Given the description of an element on the screen output the (x, y) to click on. 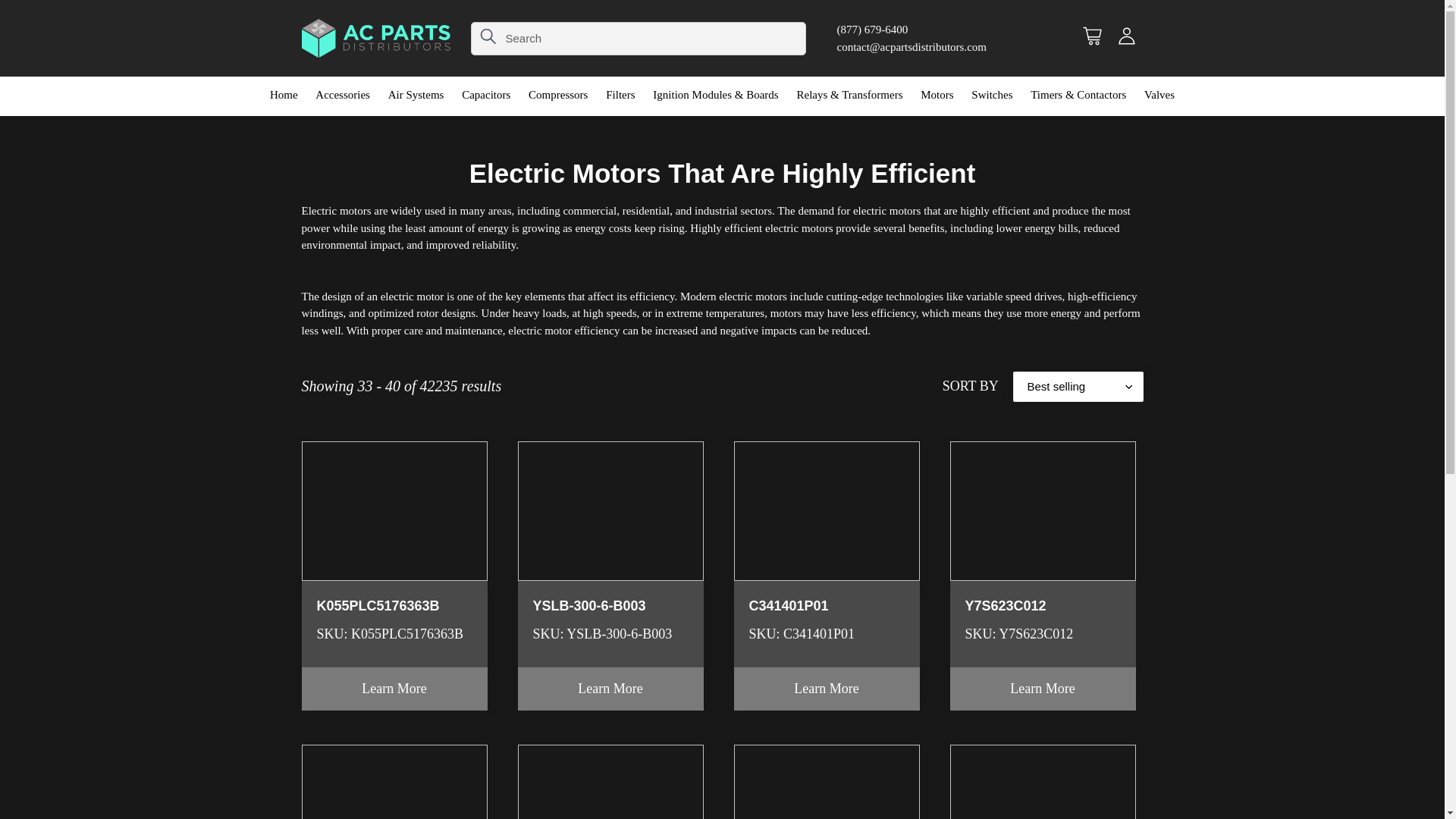
Air Systems (415, 96)
Valves (1159, 96)
Cart (1091, 38)
Filters (620, 96)
Home (283, 96)
Capacitors (486, 96)
Compressors (558, 96)
K055PLC5176363B (394, 555)
Learn More (394, 688)
Motors (936, 96)
Log in (1125, 38)
Switches (991, 96)
Accessories (342, 96)
Submit (486, 37)
